Given the description of an element on the screen output the (x, y) to click on. 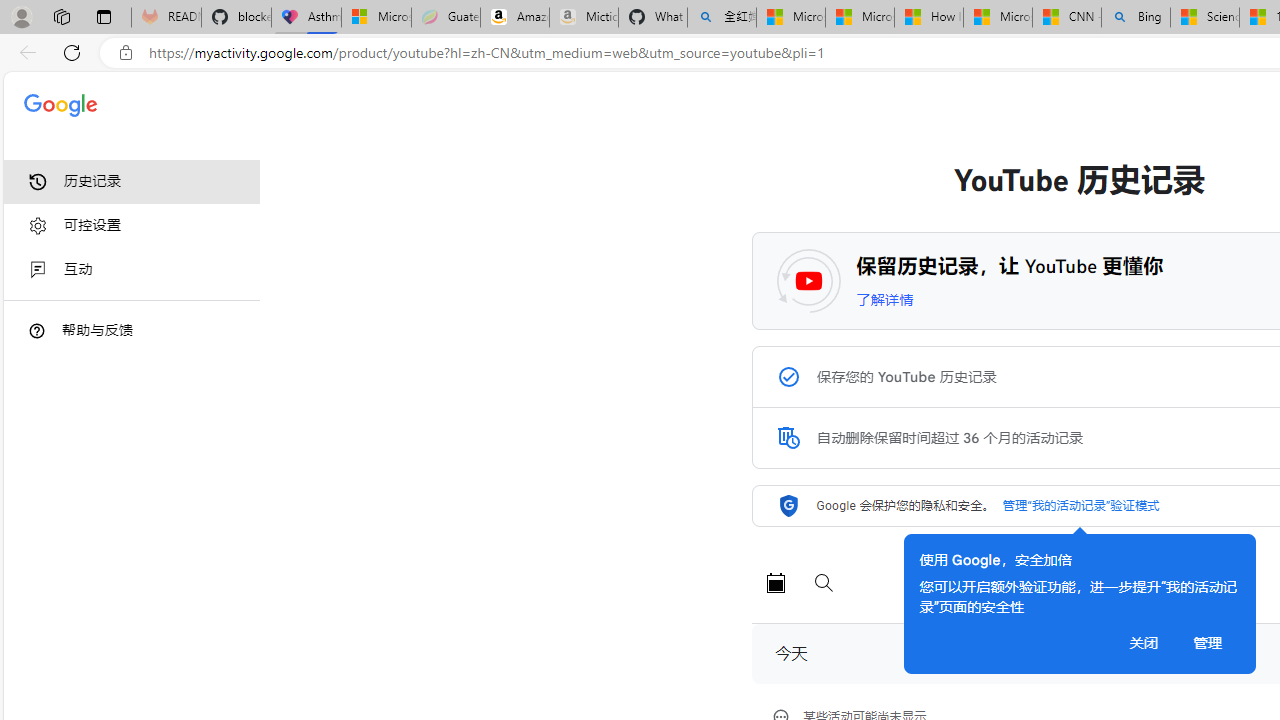
Class: DTiKkd NMm5M (37, 330)
CNN - MSN (1066, 17)
Bing (1135, 17)
Class: i2GIId (38, 269)
